Given the description of an element on the screen output the (x, y) to click on. 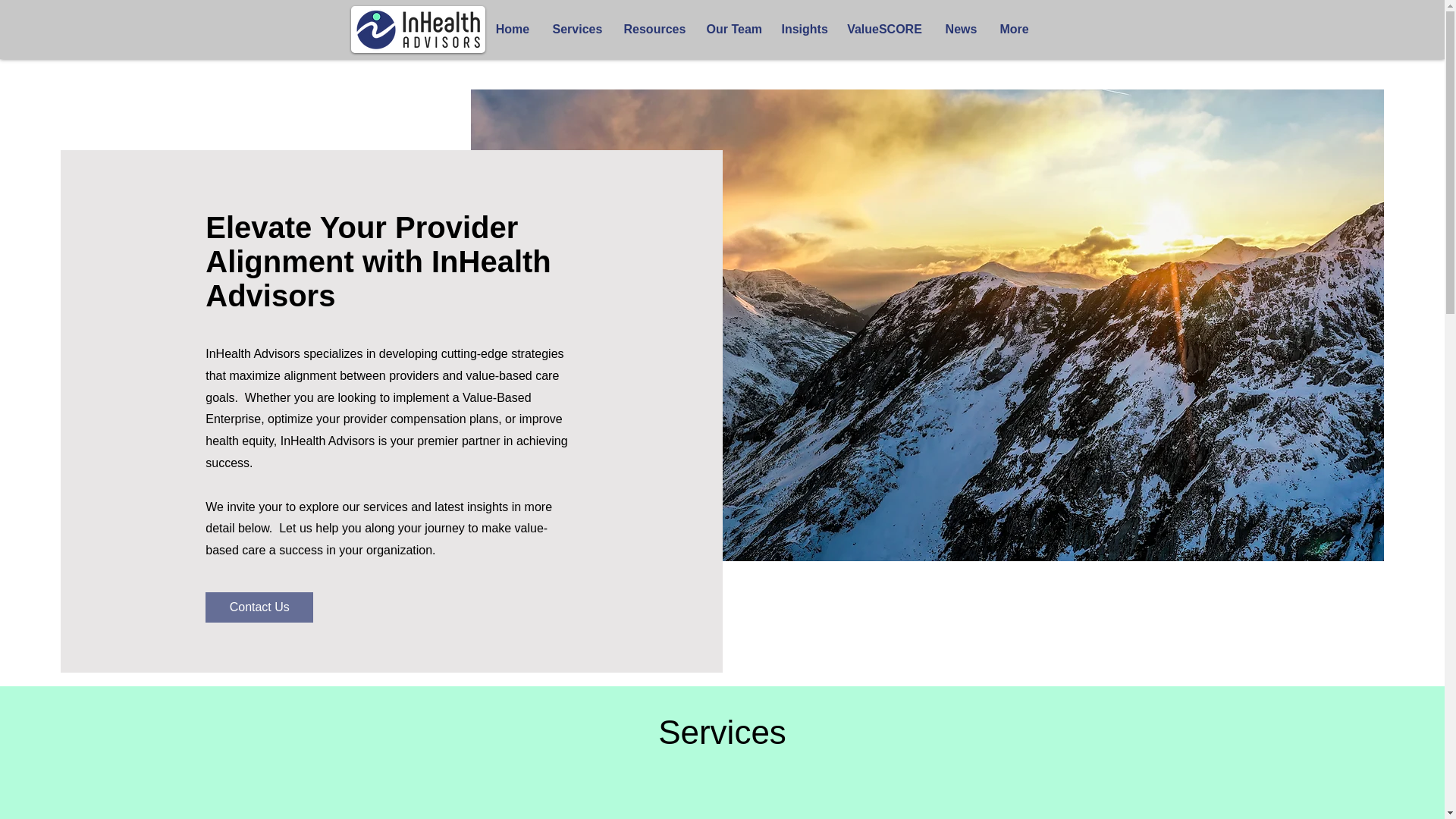
Resources (653, 29)
Insights (802, 29)
News (961, 29)
Services (576, 29)
ValueSCORE (884, 29)
Home (511, 29)
Our Team (732, 29)
Contact Us (259, 607)
